Given the description of an element on the screen output the (x, y) to click on. 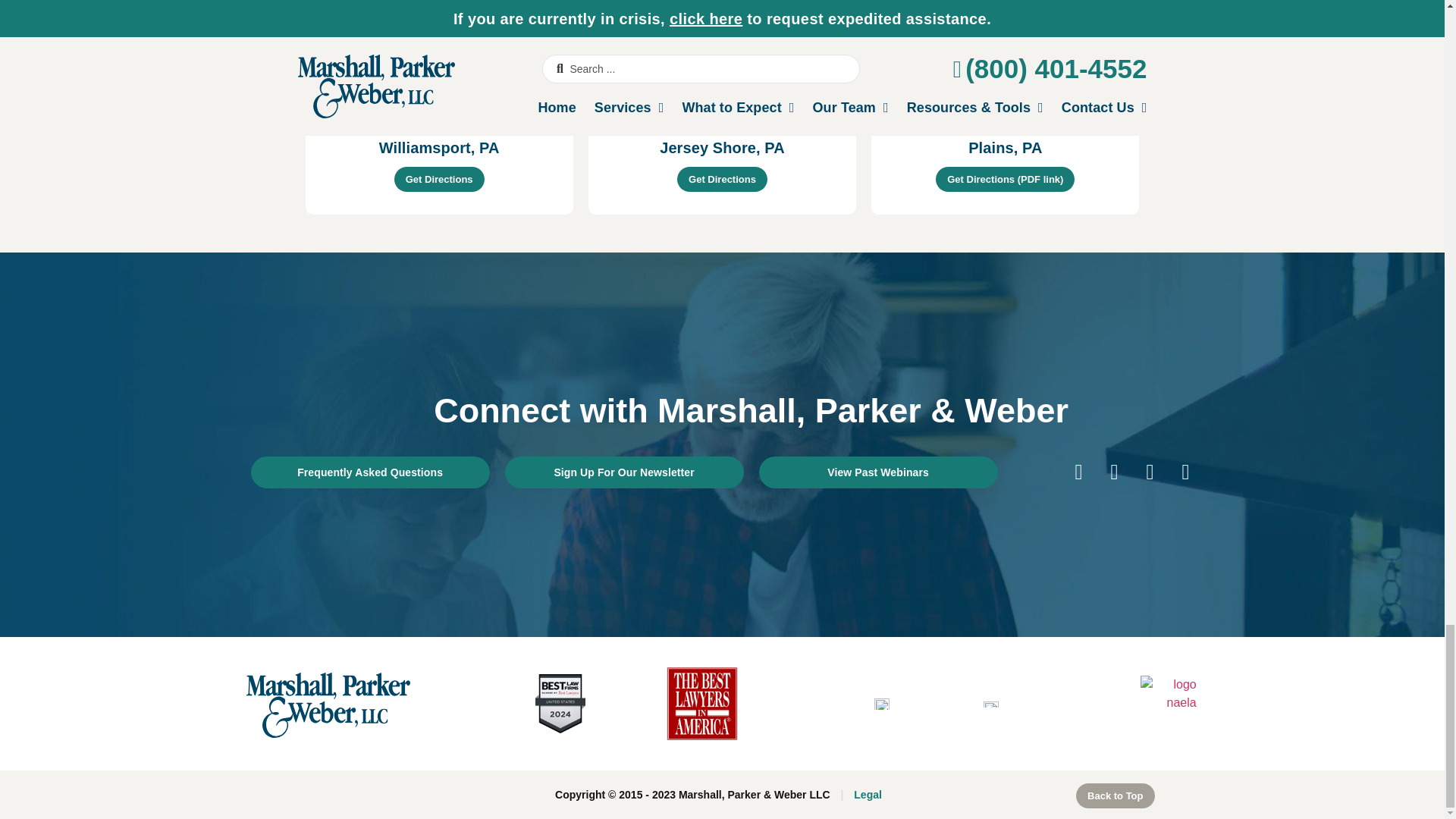
672 S River Street Plains, PA 18705 (1004, 64)
928 Allegheny St, Jersey Shore, PA 17740 (722, 64)
49 E 4th St, Williamsport, PA 17701 (438, 64)
